Given the description of an element on the screen output the (x, y) to click on. 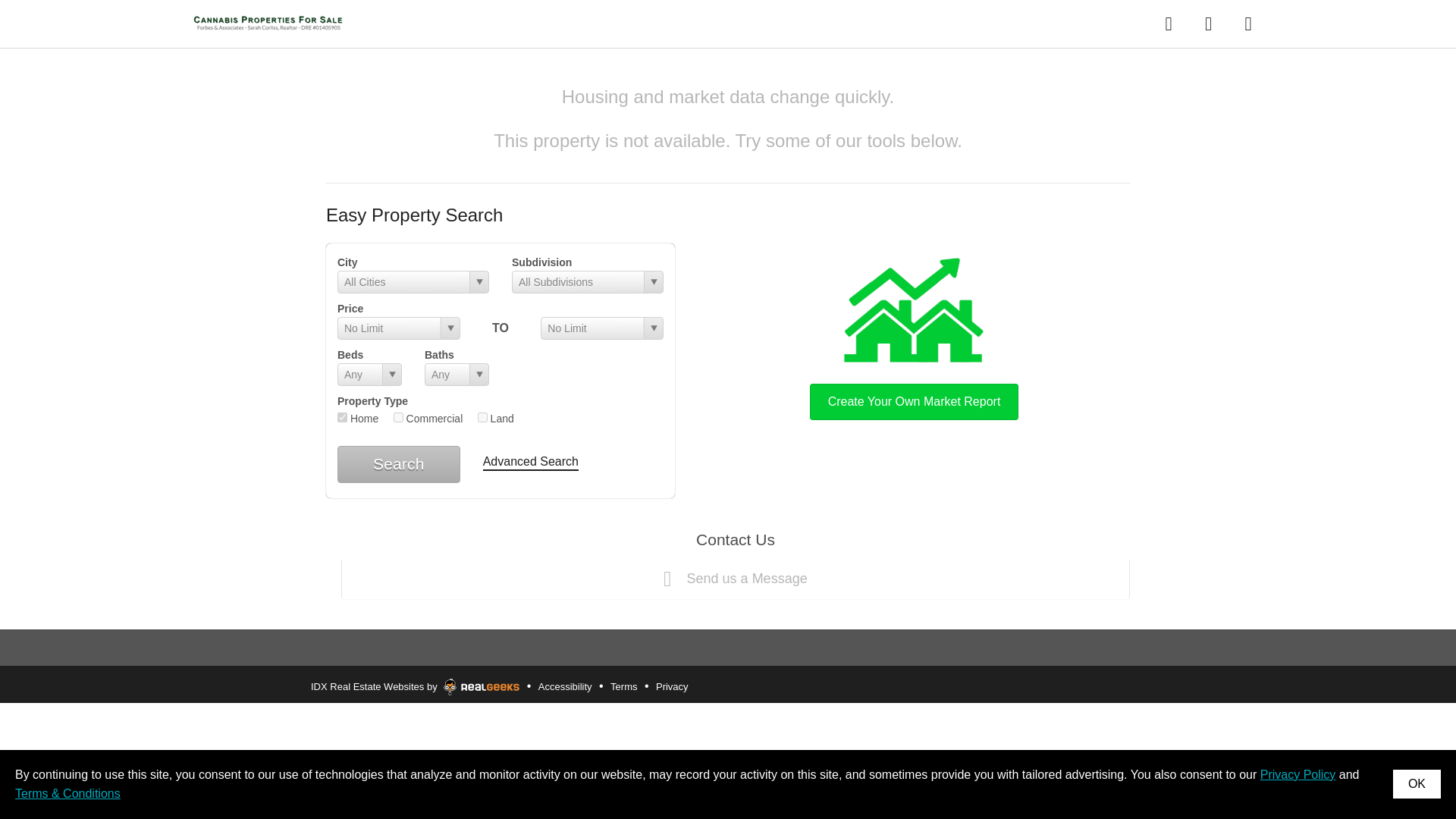
Search (398, 463)
OK (1417, 783)
lnd (482, 417)
Privacy (672, 686)
Send us a Message (734, 578)
Privacy Policy (1298, 774)
Accessibility (564, 686)
Create Your Own Market Report (913, 335)
Terms (623, 686)
IDX Real Estate Websites by (414, 683)
